Given the description of an element on the screen output the (x, y) to click on. 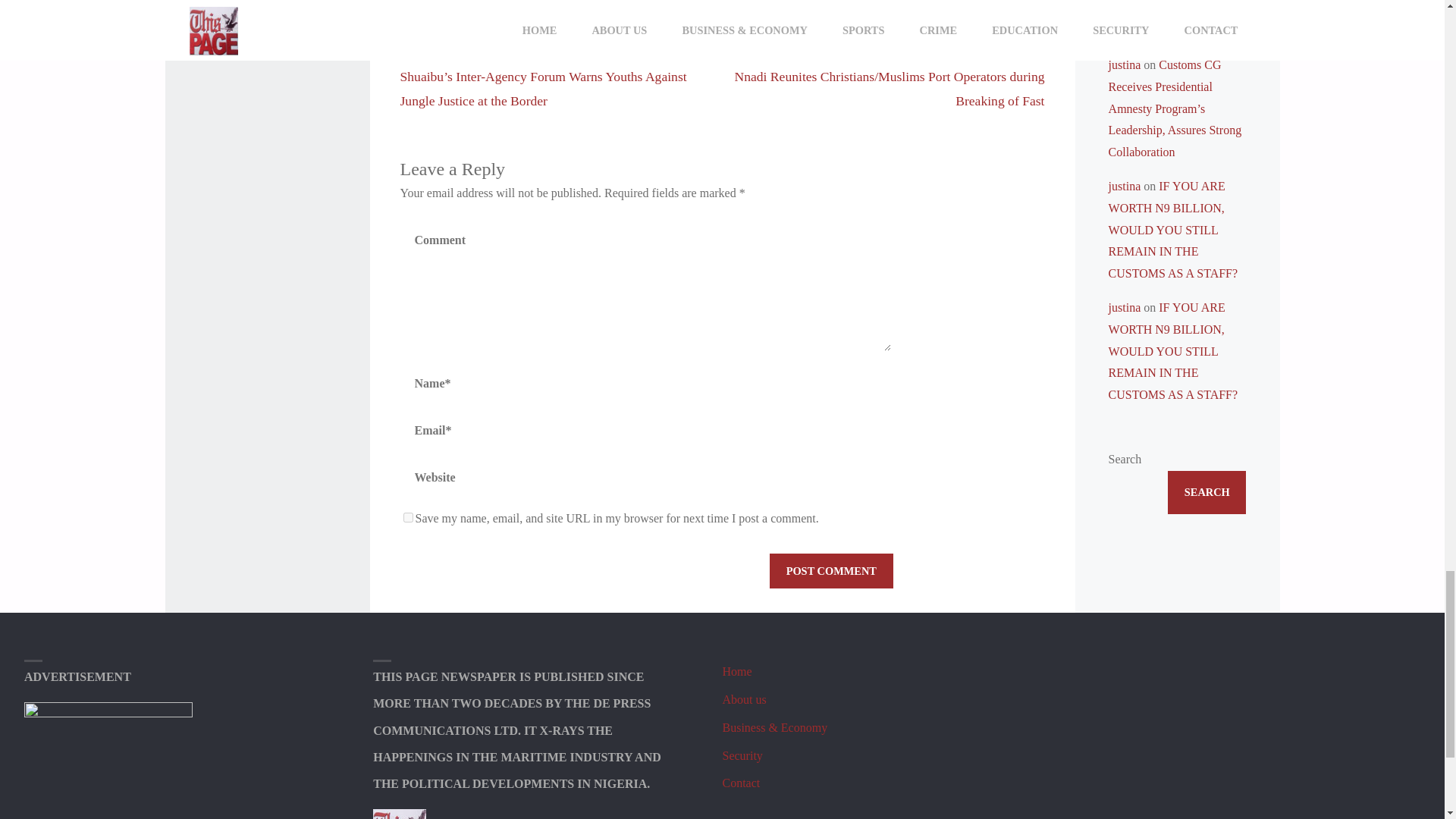
Post Comment (831, 570)
yes (408, 517)
Post Comment (831, 570)
